Given the description of an element on the screen output the (x, y) to click on. 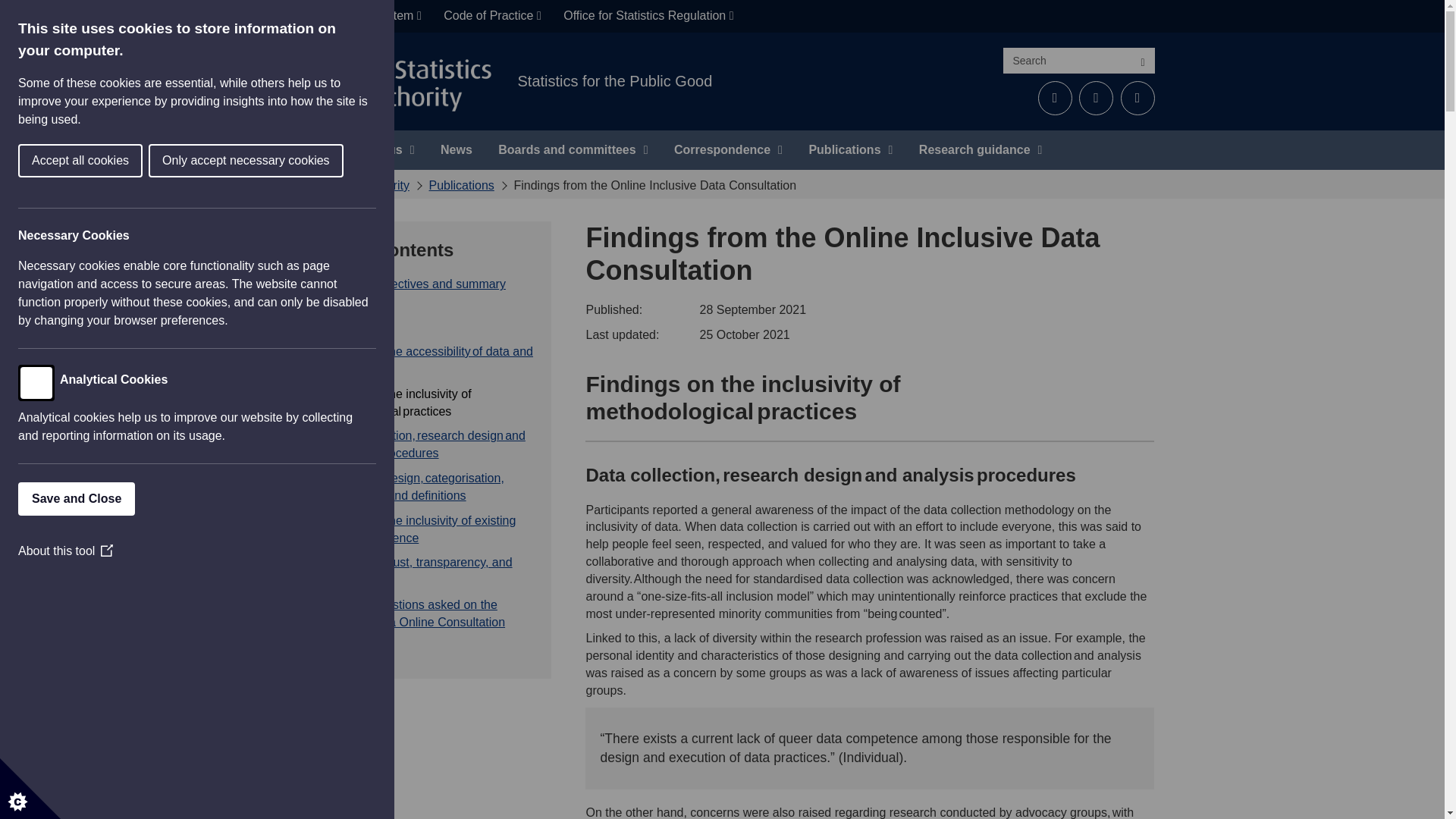
Boards and committees (572, 149)
About us (381, 149)
Go to UK Statistics Authority. (349, 185)
UK Statistical System (358, 16)
Office for Statistics Regulation (648, 16)
Home (306, 149)
RSS Feed (1137, 98)
Correspondence (727, 149)
Statistics for the Public Good (613, 80)
Code of Practice (491, 16)
